Given the description of an element on the screen output the (x, y) to click on. 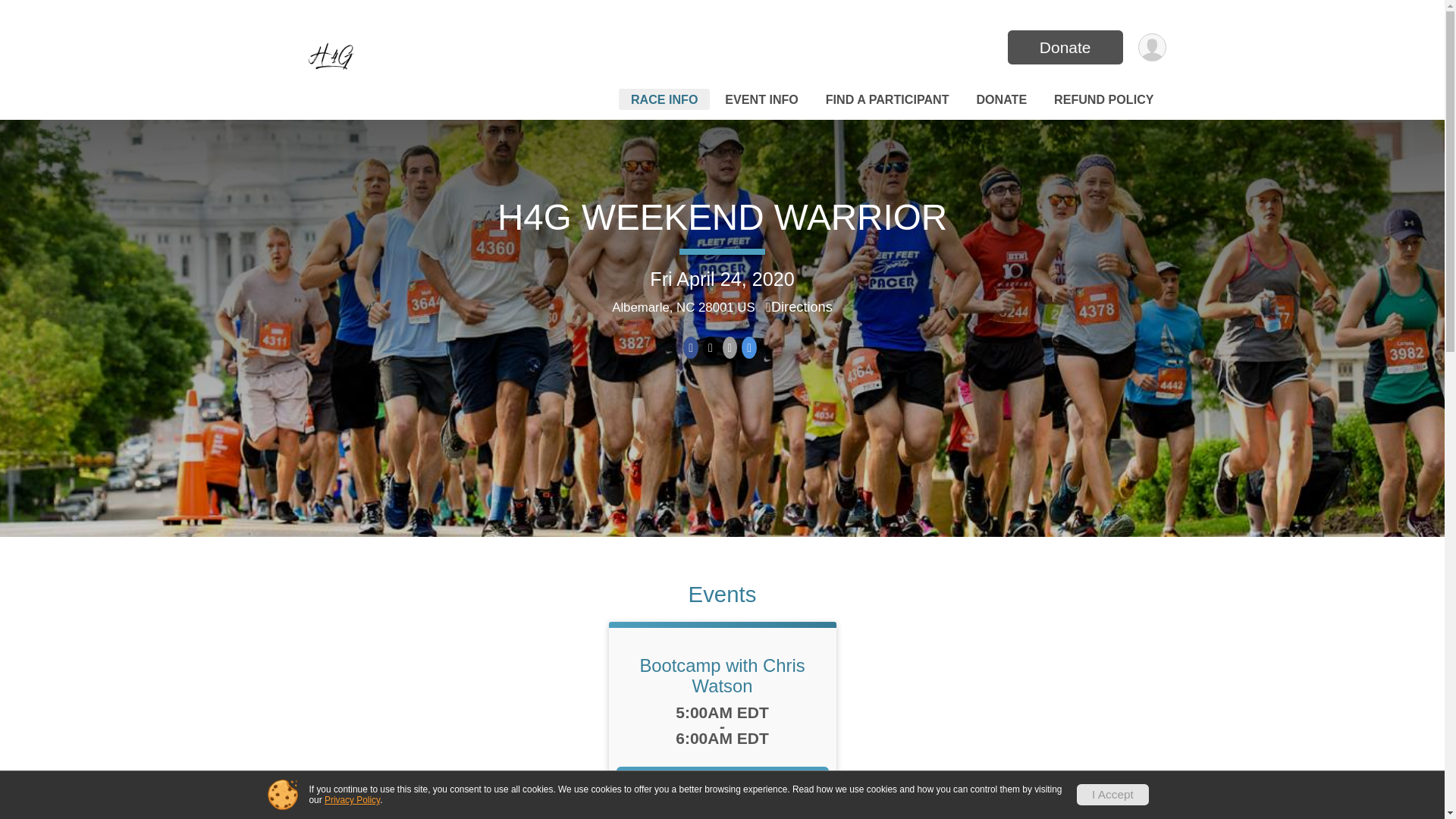
EVENT INFO (761, 98)
REFUND POLICY (1103, 98)
H4G WEEKEND WARRIOR (722, 217)
RACE INFO (664, 98)
Directions (798, 306)
FIND A PARTICIPANT (887, 98)
Bootcamp with Chris Watson (722, 675)
Sign Up (721, 783)
DONATE (1000, 98)
Donate (1064, 47)
